Given the description of an element on the screen output the (x, y) to click on. 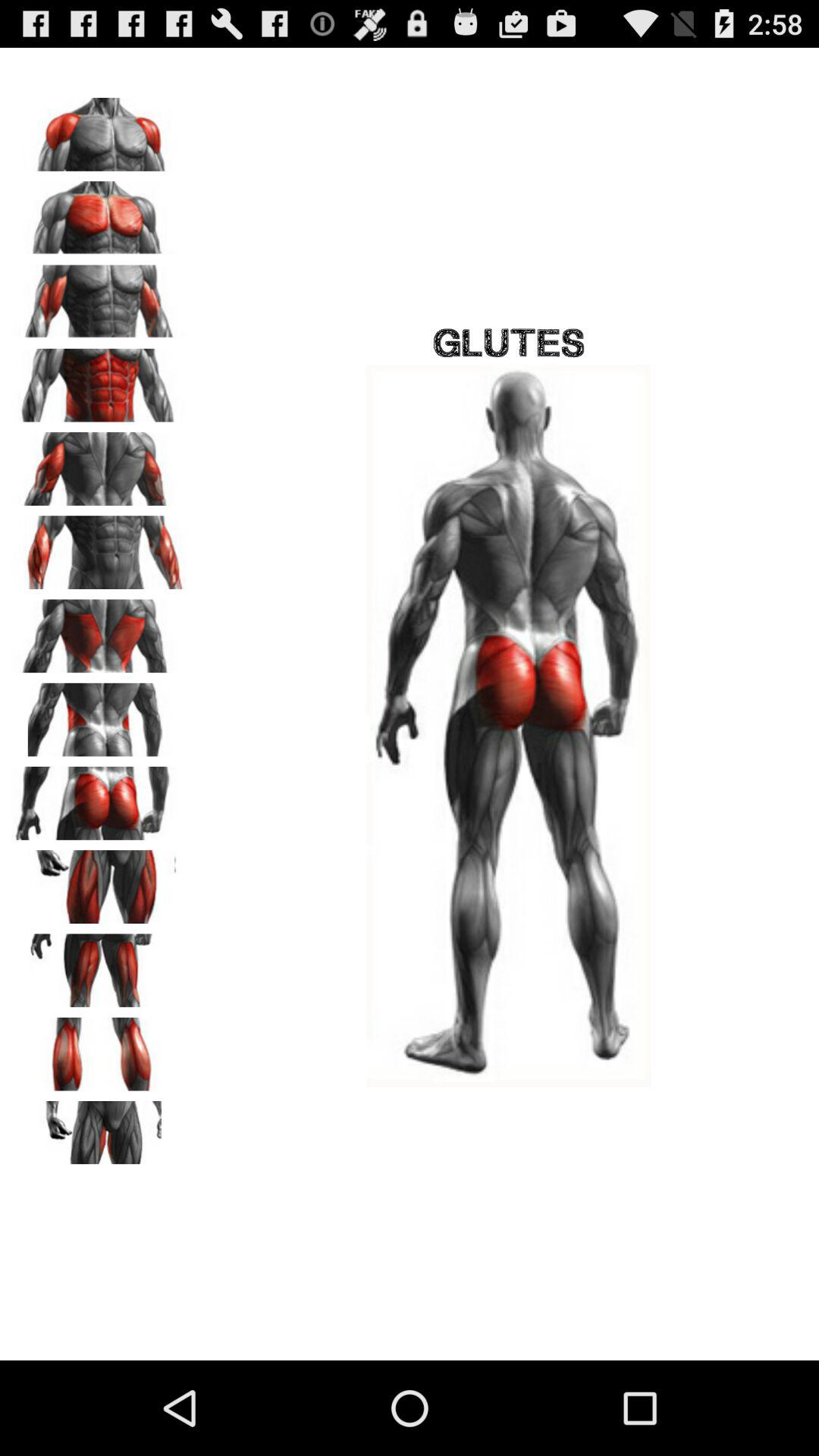
pectorals (99, 212)
